Given the description of an element on the screen output the (x, y) to click on. 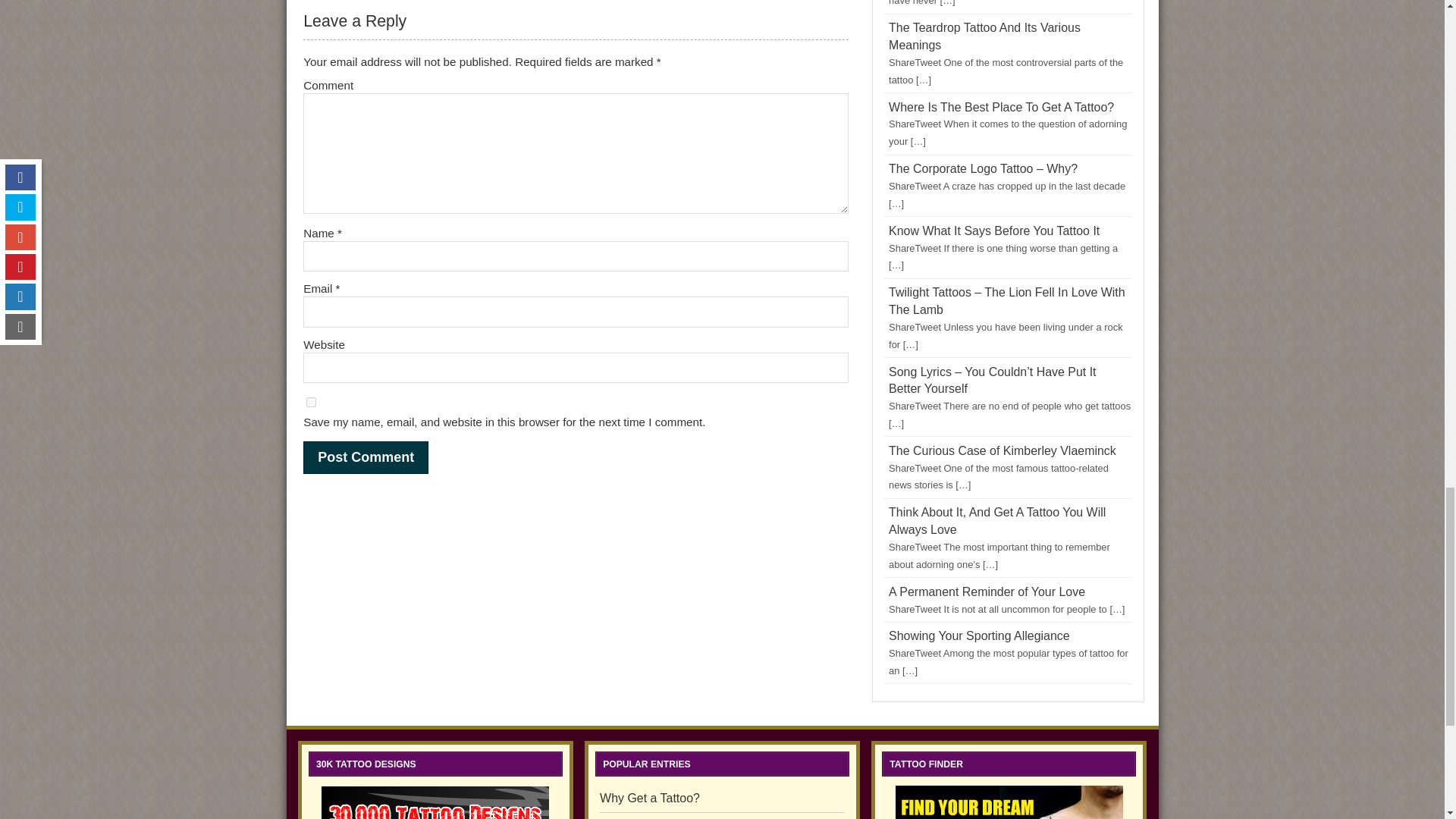
yes (310, 402)
Post Comment (365, 457)
